Given the description of an element on the screen output the (x, y) to click on. 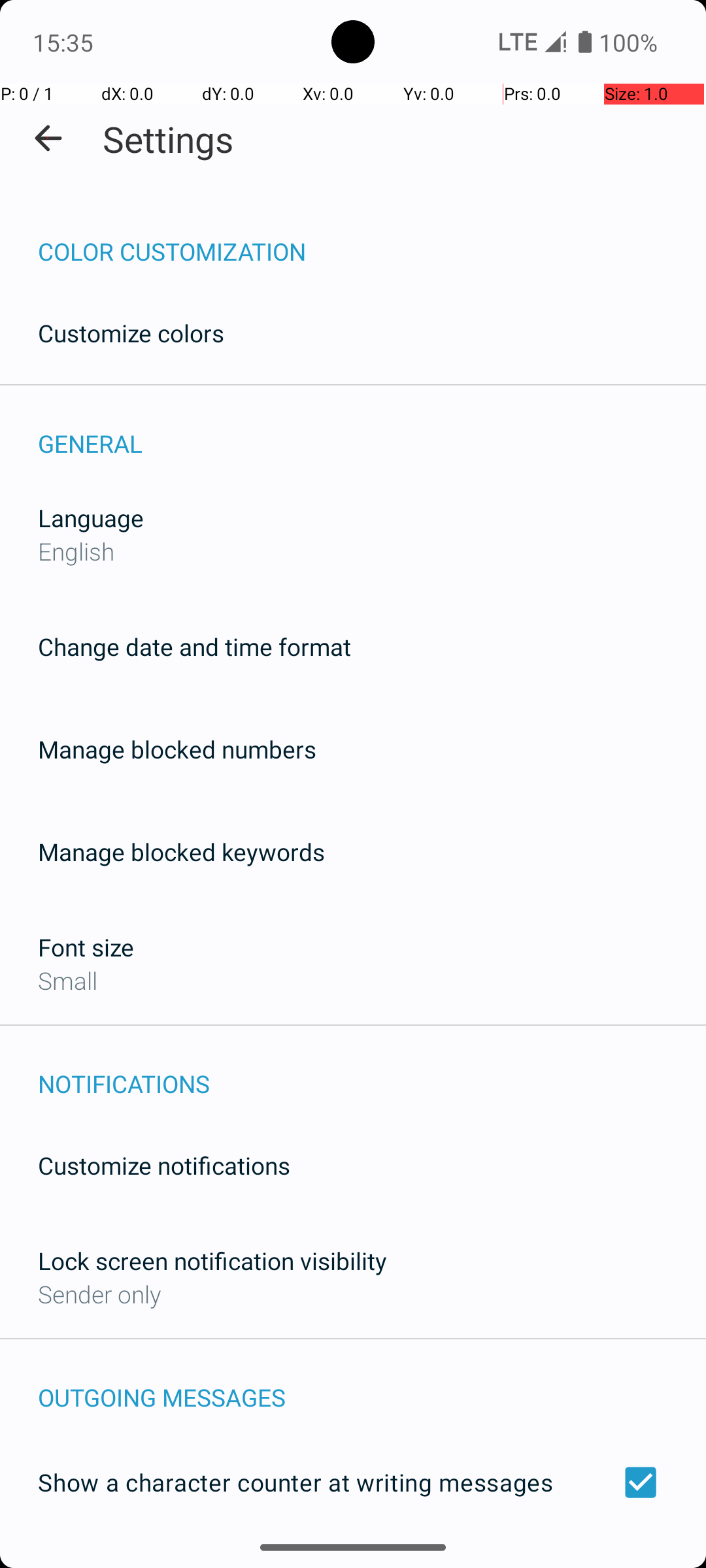
NOTIFICATIONS Element type: android.widget.TextView (371, 1069)
OUTGOING MESSAGES Element type: android.widget.TextView (371, 1383)
Change date and time format Element type: android.widget.TextView (194, 646)
Manage blocked numbers Element type: android.widget.TextView (176, 748)
Manage blocked keywords Element type: android.widget.TextView (180, 851)
Font size Element type: android.widget.TextView (85, 946)
Small Element type: android.widget.TextView (67, 979)
Lock screen notification visibility Element type: android.widget.TextView (211, 1260)
Sender only Element type: android.widget.TextView (99, 1293)
Show a character counter at writing messages Element type: android.widget.CheckBox (352, 1482)
Remove accents and diacritics at sending messages Element type: android.widget.CheckBox (352, 1559)
